Given the description of an element on the screen output the (x, y) to click on. 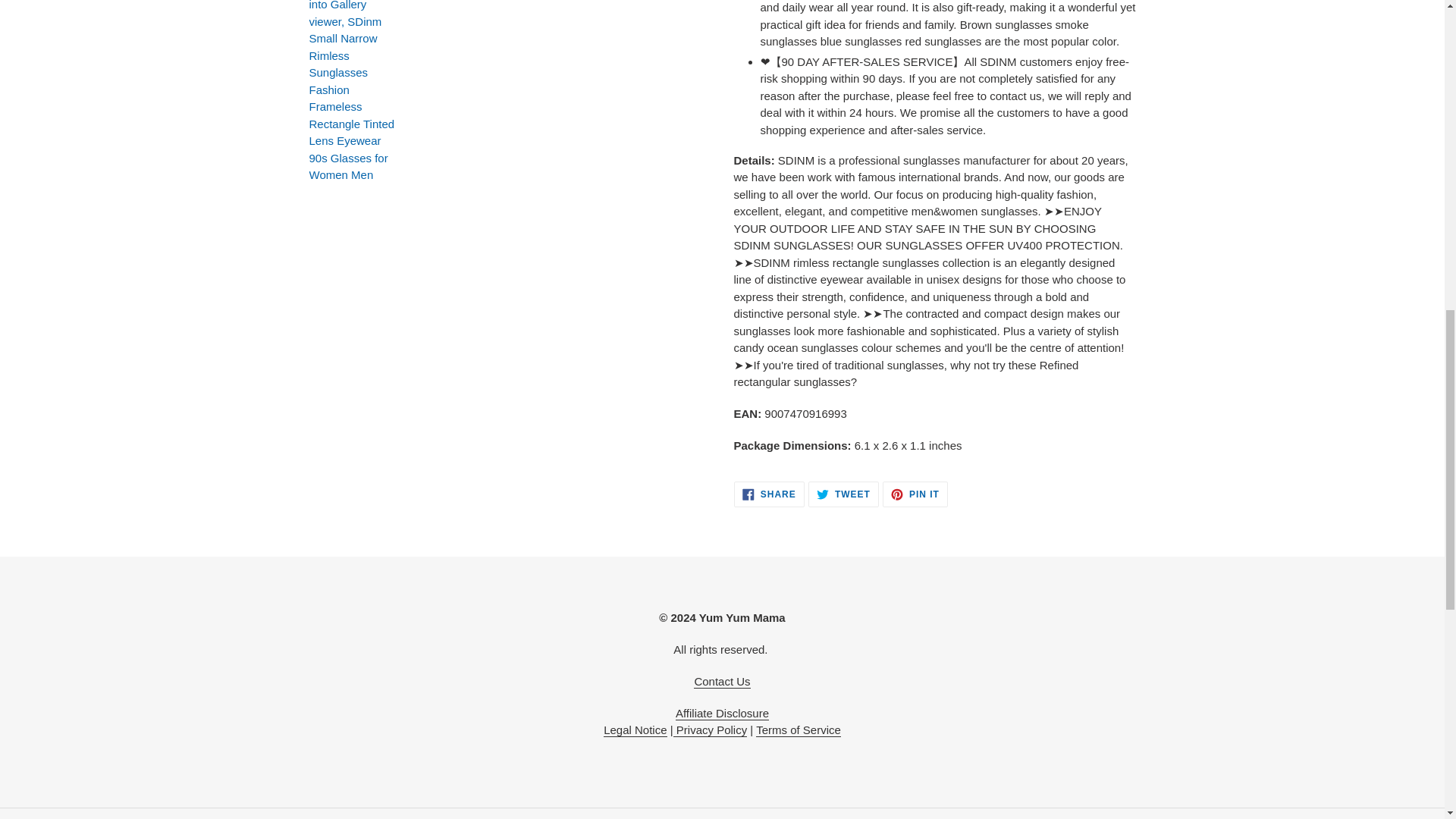
Terms of Service (798, 730)
Legal Notice (635, 730)
Privacy Policy (710, 730)
